Given the description of an element on the screen output the (x, y) to click on. 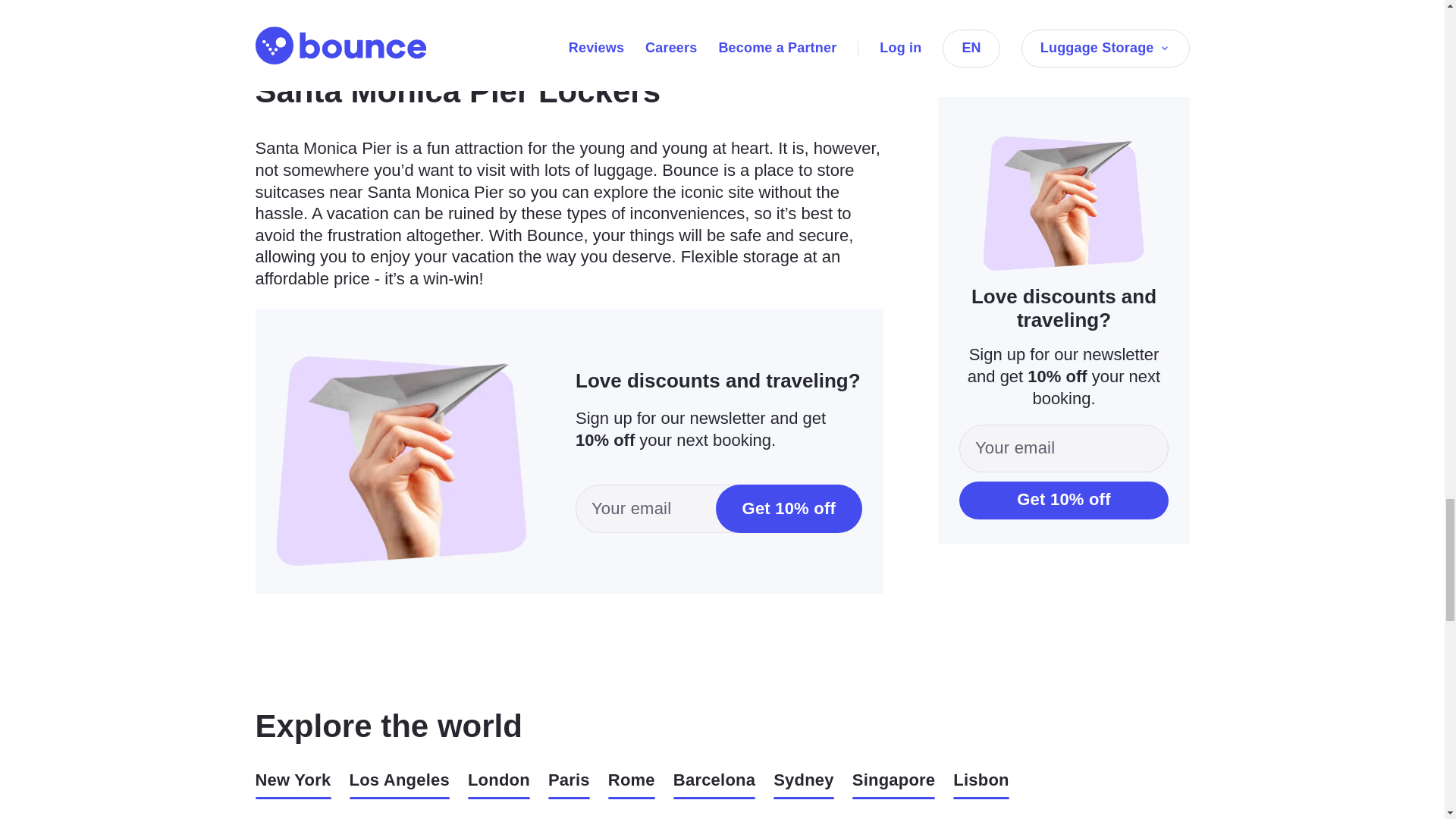
Lisbon (981, 784)
Sydney (803, 784)
Barcelona (713, 784)
London (498, 784)
Rome (631, 784)
Paris (568, 784)
New York (292, 784)
Singapore (893, 784)
Los Angeles (398, 784)
